Given the description of an element on the screen output the (x, y) to click on. 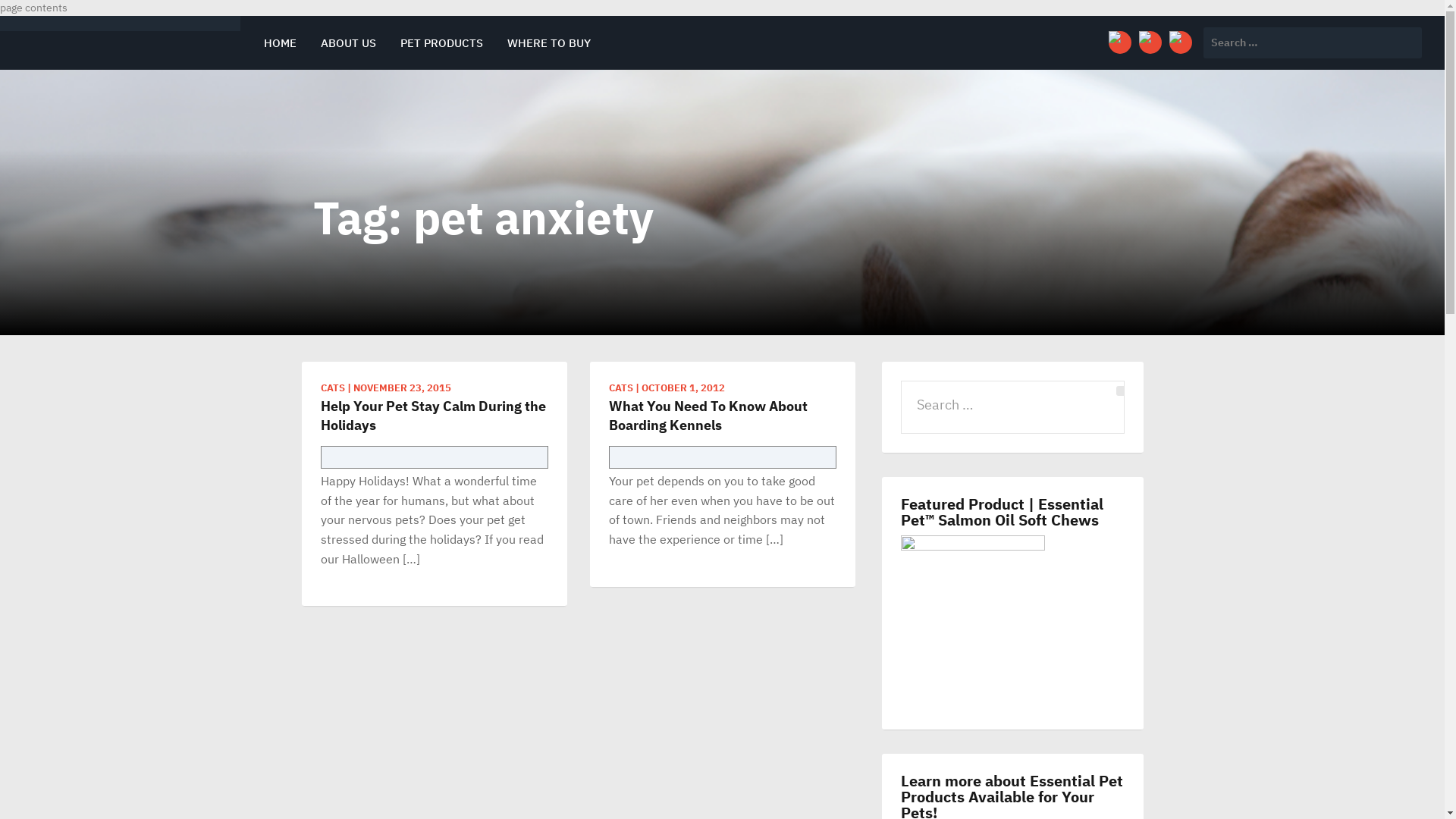
Search Element type: text (21, 15)
THE PAW PRINT Element type: text (78, 44)
Search Element type: text (1121, 390)
WHERE TO BUY Element type: text (548, 42)
What You Need To Know About Boarding Kennels Element type: text (721, 415)
Help Your Pet Stay Calm During the Holidays Element type: text (433, 415)
ABOUT US Element type: text (348, 42)
HOME Element type: text (279, 42)
PET PRODUCTS Element type: text (441, 42)
